Given the description of an element on the screen output the (x, y) to click on. 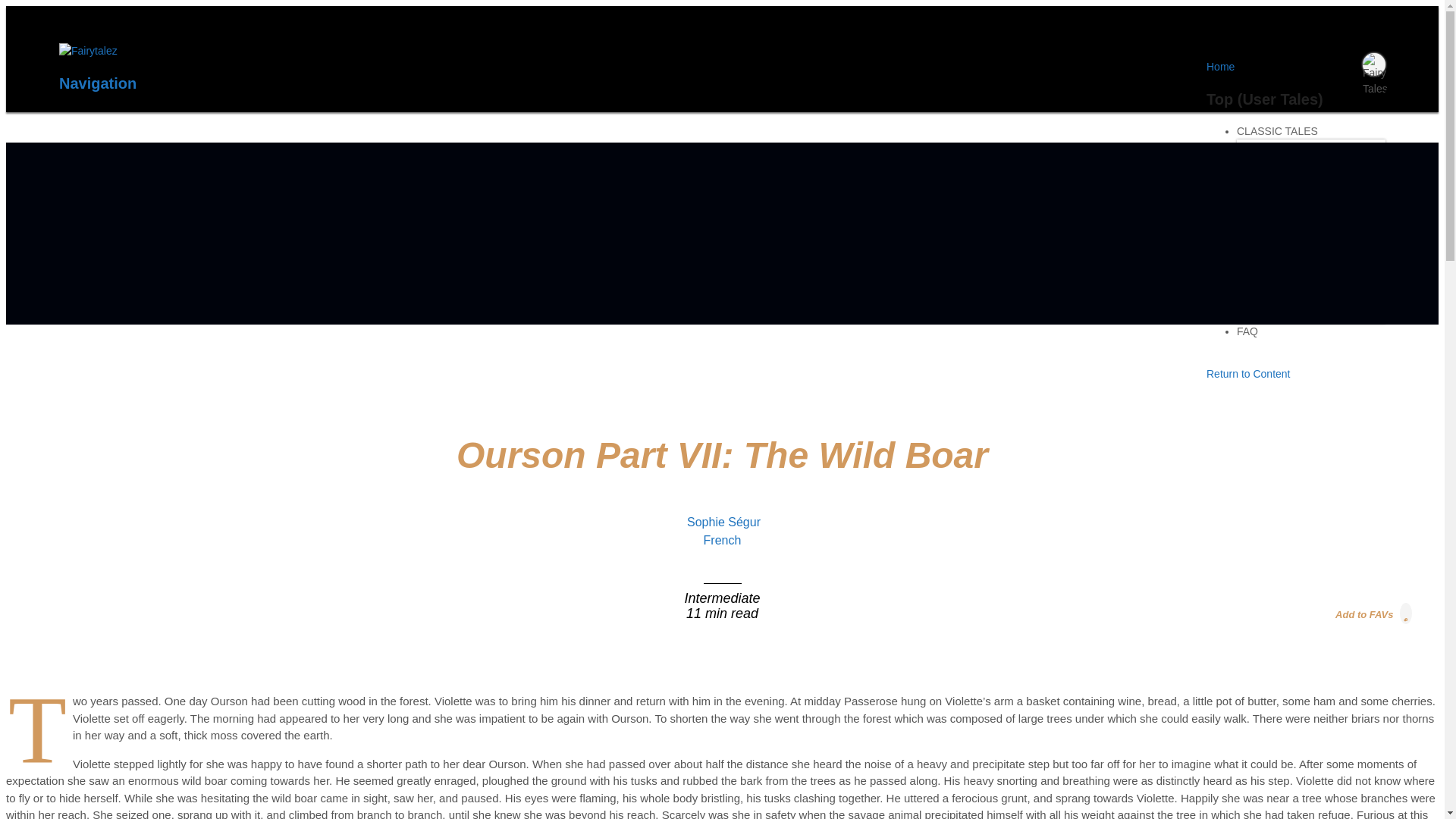
FAQ (1246, 336)
Categories (1274, 251)
Add to FAVs (1373, 612)
CLASSIC TALES (1276, 136)
Navigation (97, 83)
Competitions (1281, 300)
Fairytalez audio book android app (816, 292)
Fairytalez audio book ios app (1102, 297)
Regions (1268, 151)
Books On Amazon (1295, 199)
Return to Content (1248, 373)
Home (1220, 66)
USER TALES (1268, 236)
Users (1262, 268)
Story Index (1276, 183)
